Given the description of an element on the screen output the (x, y) to click on. 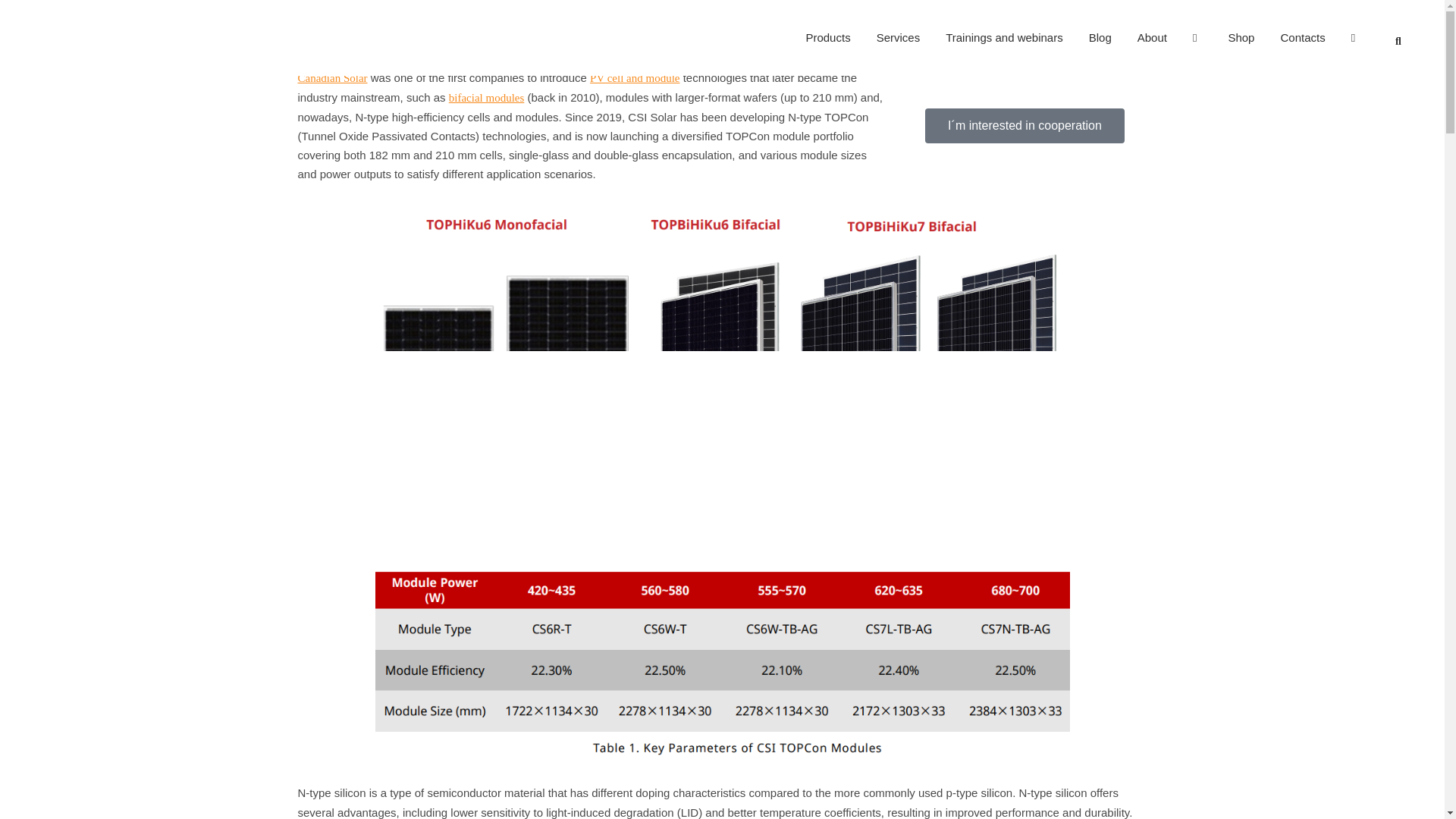
Products (827, 38)
Services (898, 38)
Contacts (1302, 38)
Trainings and webinars (1004, 38)
